Given the description of an element on the screen output the (x, y) to click on. 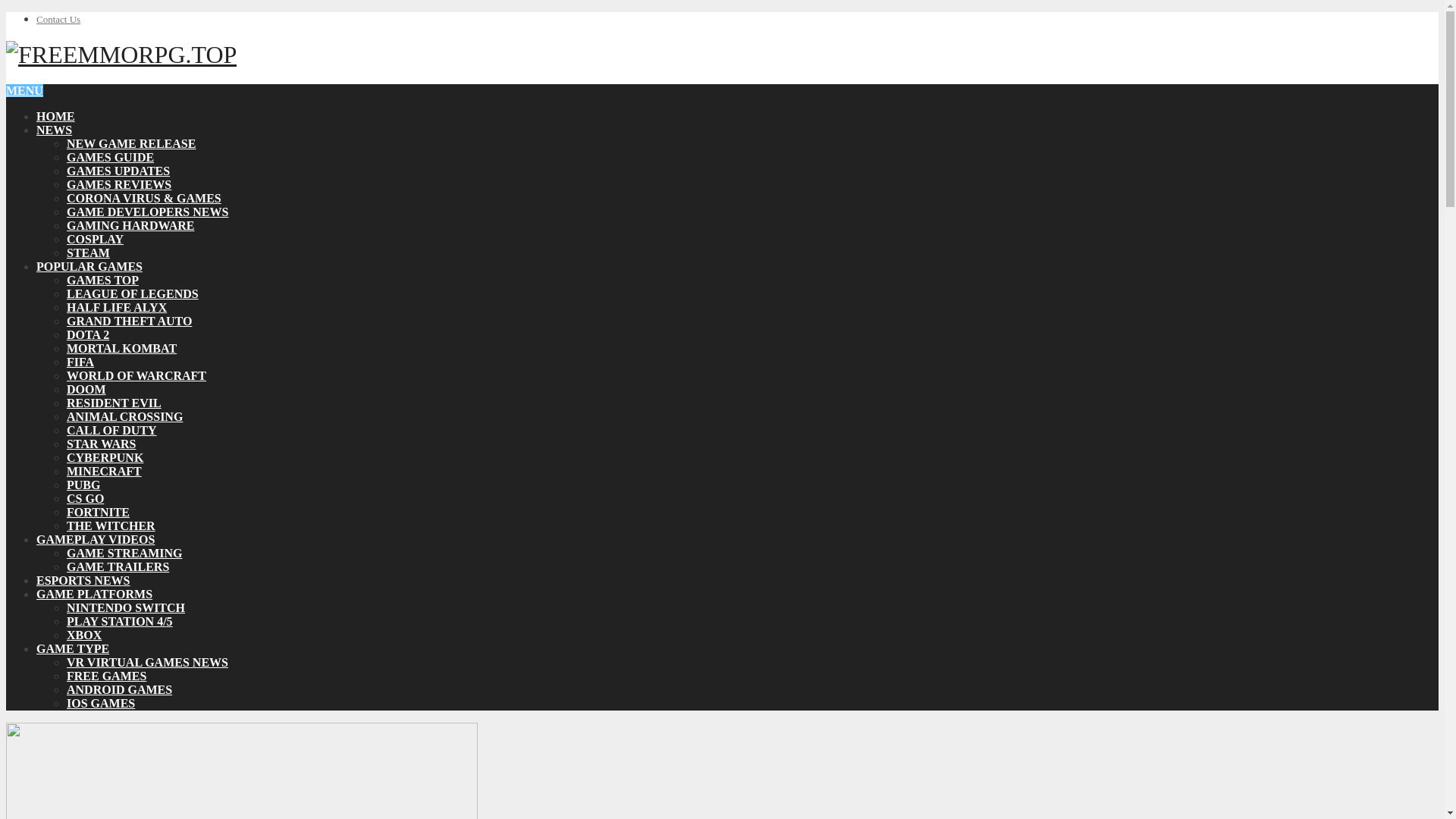
MINECRAFT (103, 471)
CALL OF DUTY (111, 430)
COSPLAY (94, 238)
MENU (24, 90)
GAMEPLAY VIDEOS (95, 539)
GAMES REVIEWS (118, 184)
GAMES GUIDE (110, 156)
ANIMAL CROSSING (124, 416)
PUBG (83, 484)
DOOM (86, 389)
NINTENDO SWITCH (125, 607)
RESIDENT EVIL (113, 402)
DOTA 2 (87, 334)
THE WITCHER (110, 525)
CYBERPUNK (104, 457)
